Given the description of an element on the screen output the (x, y) to click on. 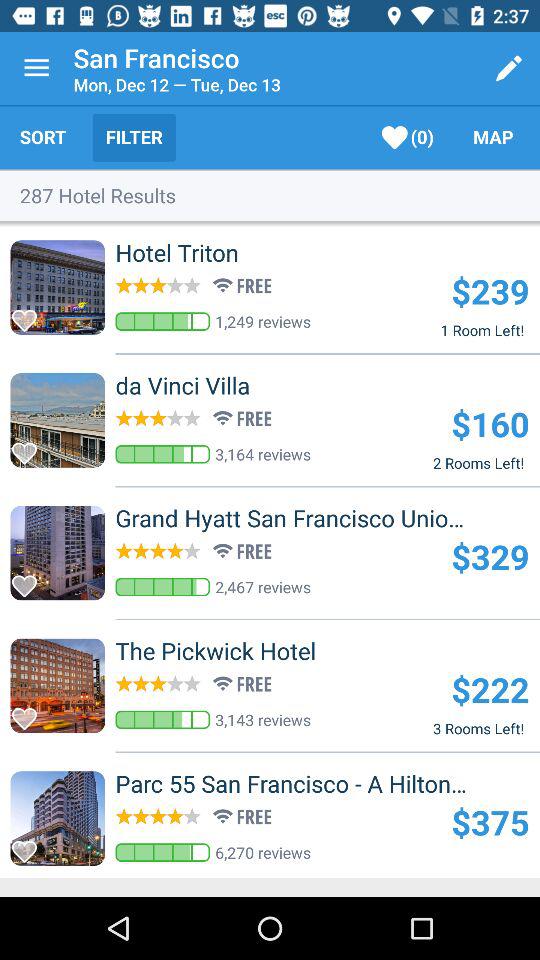
add to favorites (30, 580)
